Given the description of an element on the screen output the (x, y) to click on. 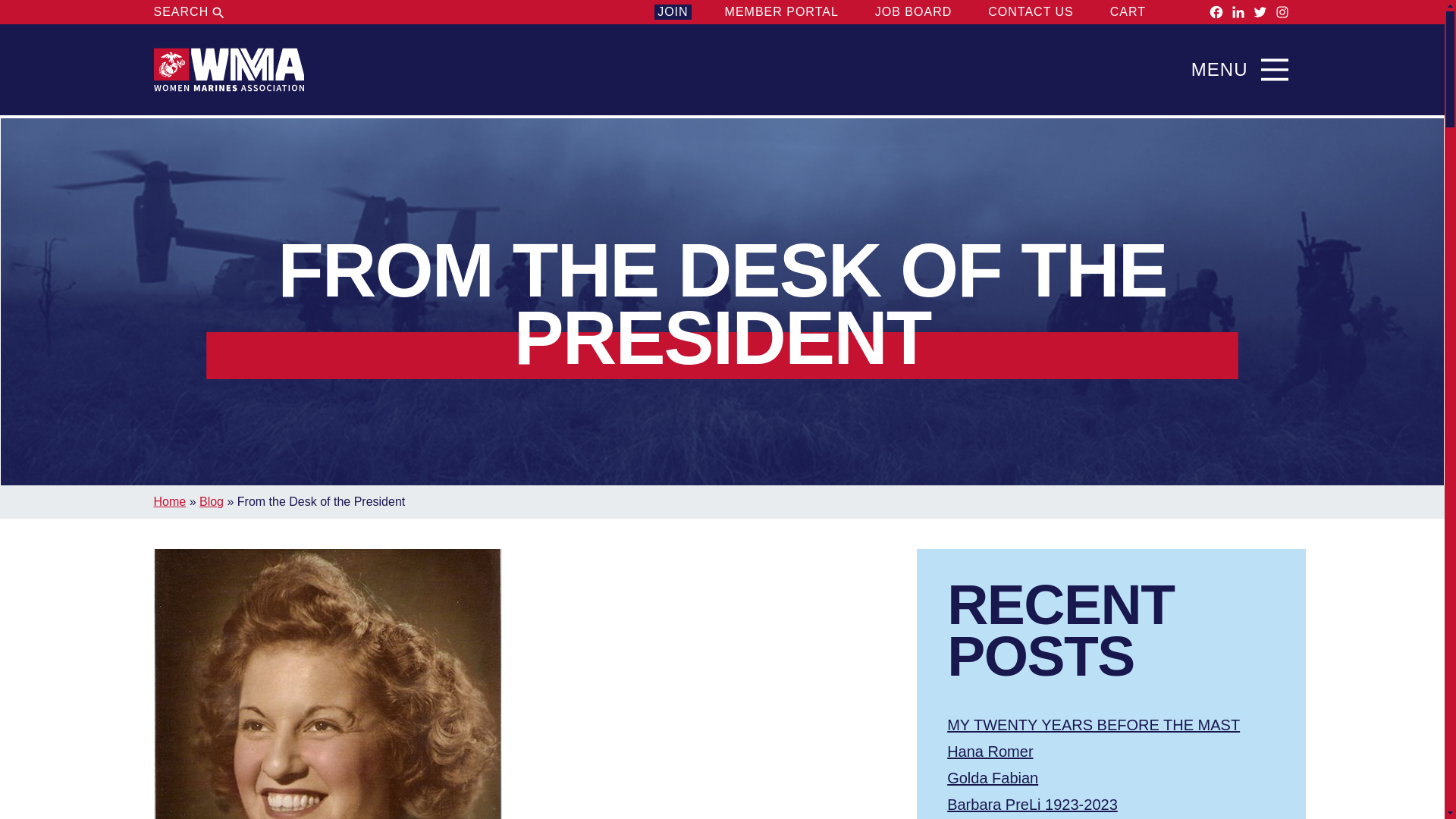
MEMBER PORTAL (781, 11)
CART (1141, 12)
JOIN (671, 11)
CONTACT US (1031, 11)
MENU (1244, 69)
Instagram (1281, 12)
JOB BOARD (913, 11)
Women Marines Association (227, 69)
Twitter (1259, 12)
SEARCH (189, 11)
Linkedin (1237, 12)
Facebook (1216, 12)
SKIP TO MAIN CONTENT (721, 37)
